Given the description of an element on the screen output the (x, y) to click on. 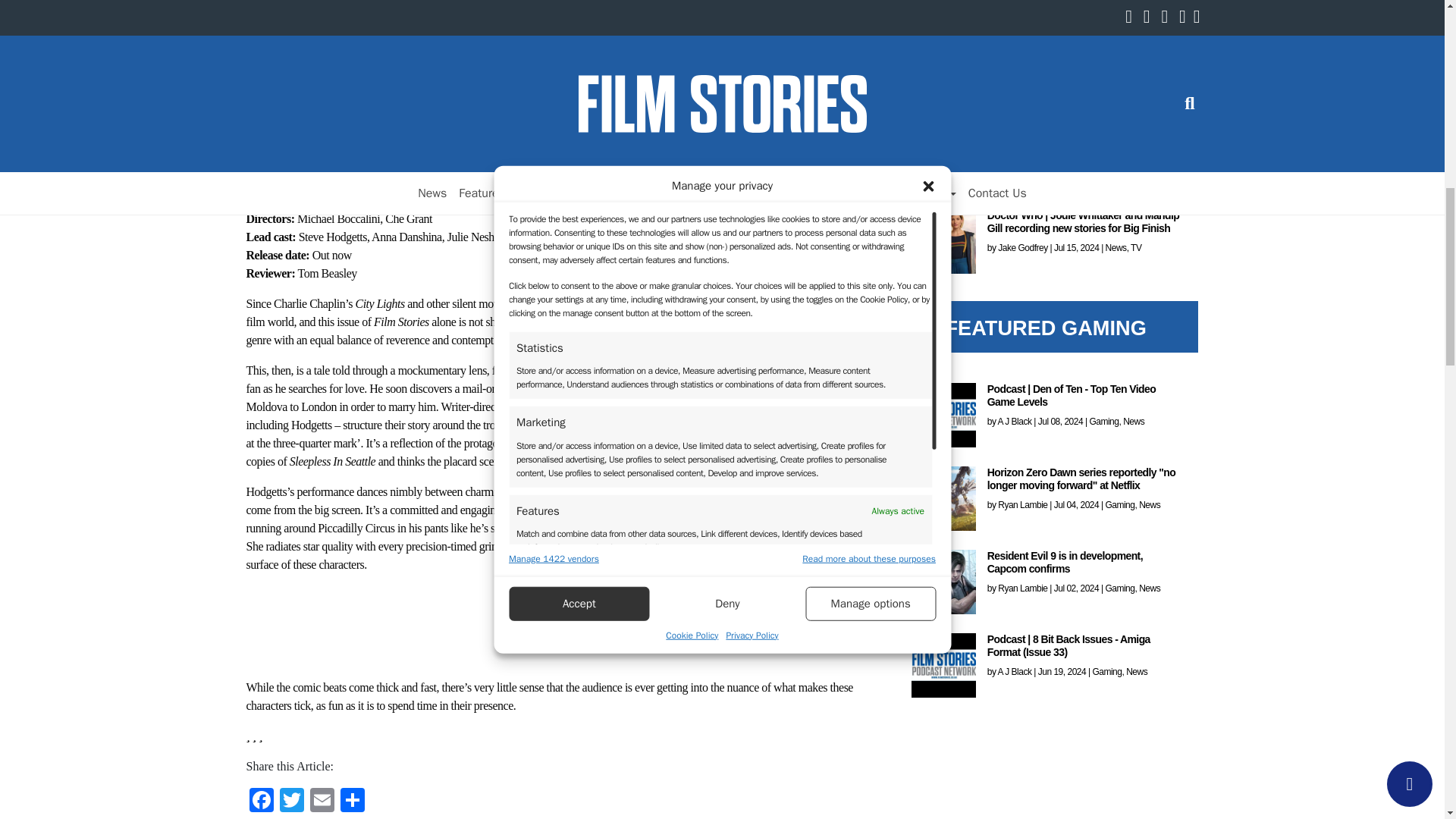
Twitter (290, 801)
Facebook (261, 135)
Email (320, 135)
Email (320, 801)
Twitter (290, 135)
Facebook (261, 801)
